Given the description of an element on the screen output the (x, y) to click on. 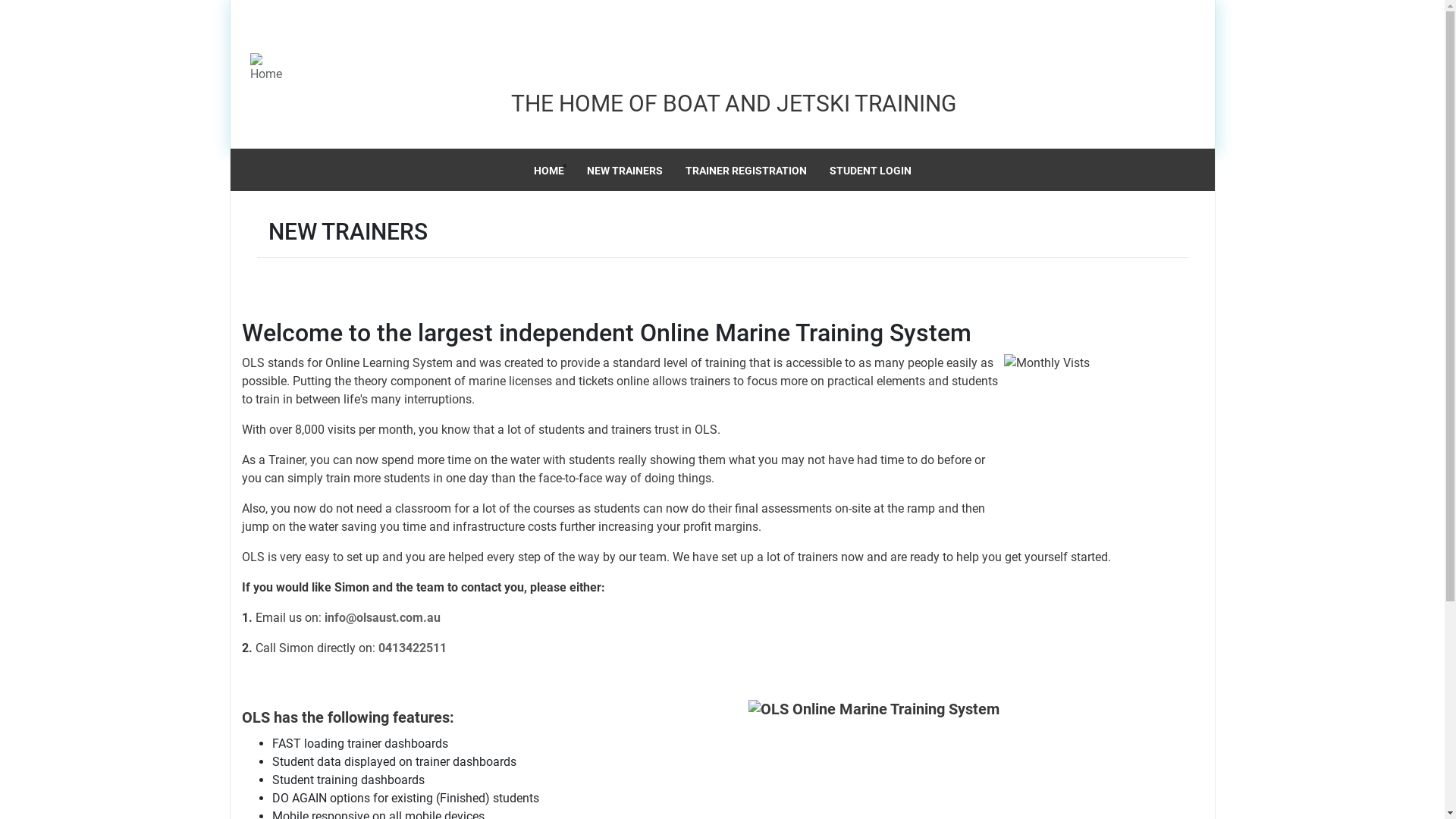
HOME Element type: text (547, 170)
Skip to main content Element type: text (0, 0)
Home Element type: hover (249, 70)
info@olsaust.com.au Element type: text (382, 617)
STUDENT LOGIN Element type: text (869, 170)
0413422511 Element type: text (411, 647)
TRAINER REGISTRATION Element type: text (745, 170)
NEW TRAINERS Element type: text (623, 170)
